Given the description of an element on the screen output the (x, y) to click on. 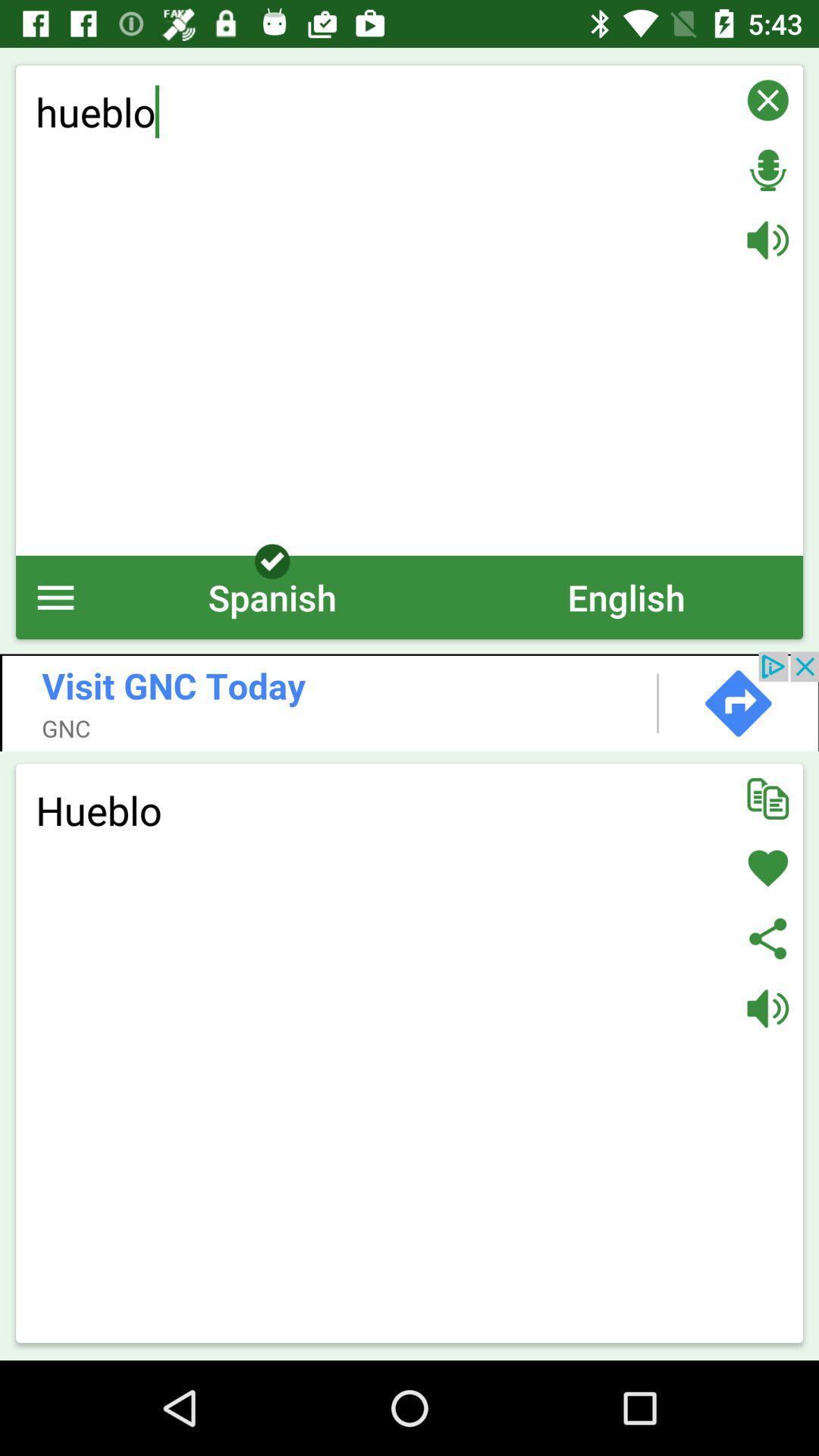
like button (768, 868)
